Given the description of an element on the screen output the (x, y) to click on. 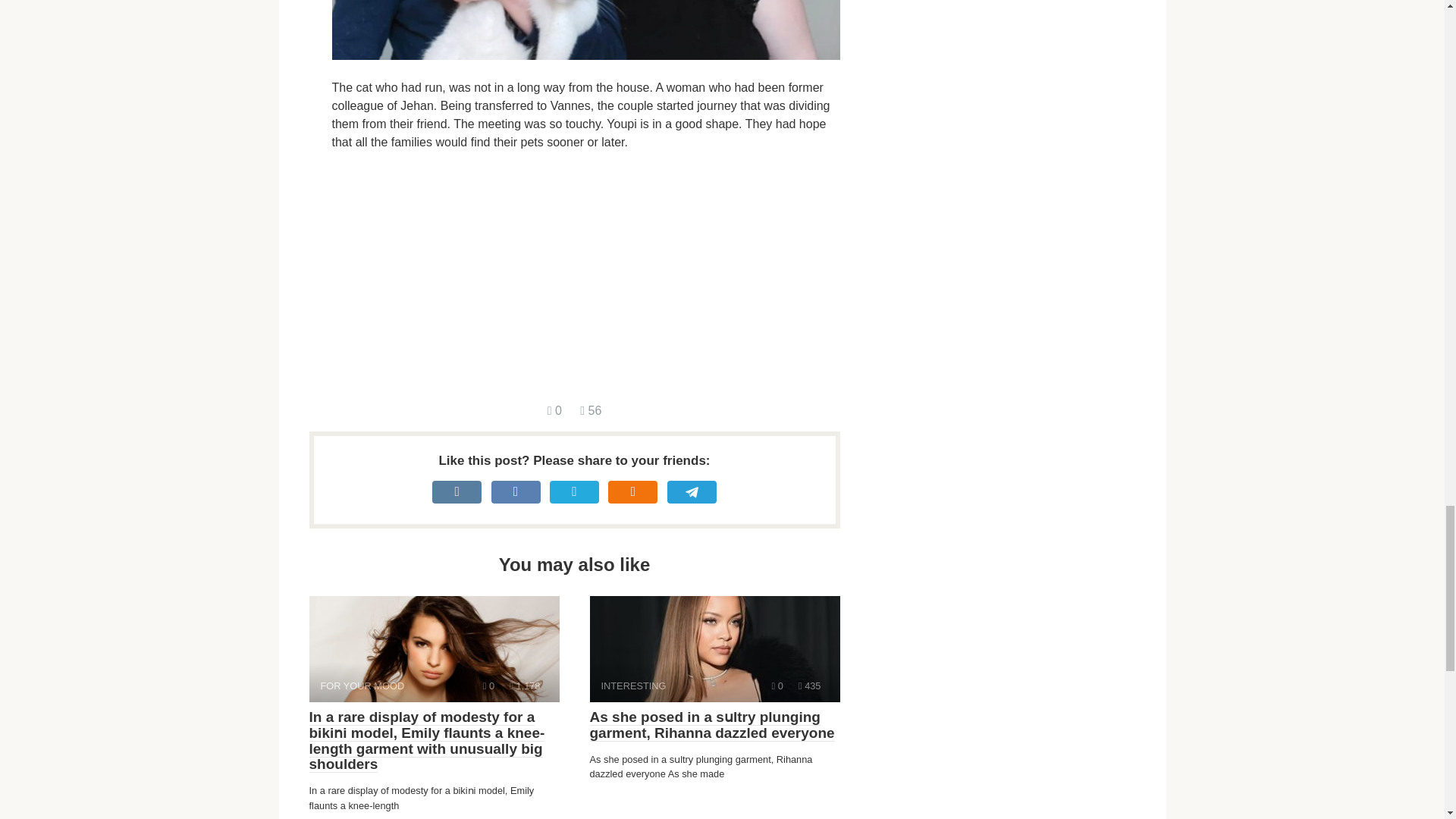
Views (714, 648)
Comments (809, 685)
Comments (554, 410)
Comments (433, 648)
Advertisement (489, 685)
Views (777, 685)
Views (585, 276)
